Given the description of an element on the screen output the (x, y) to click on. 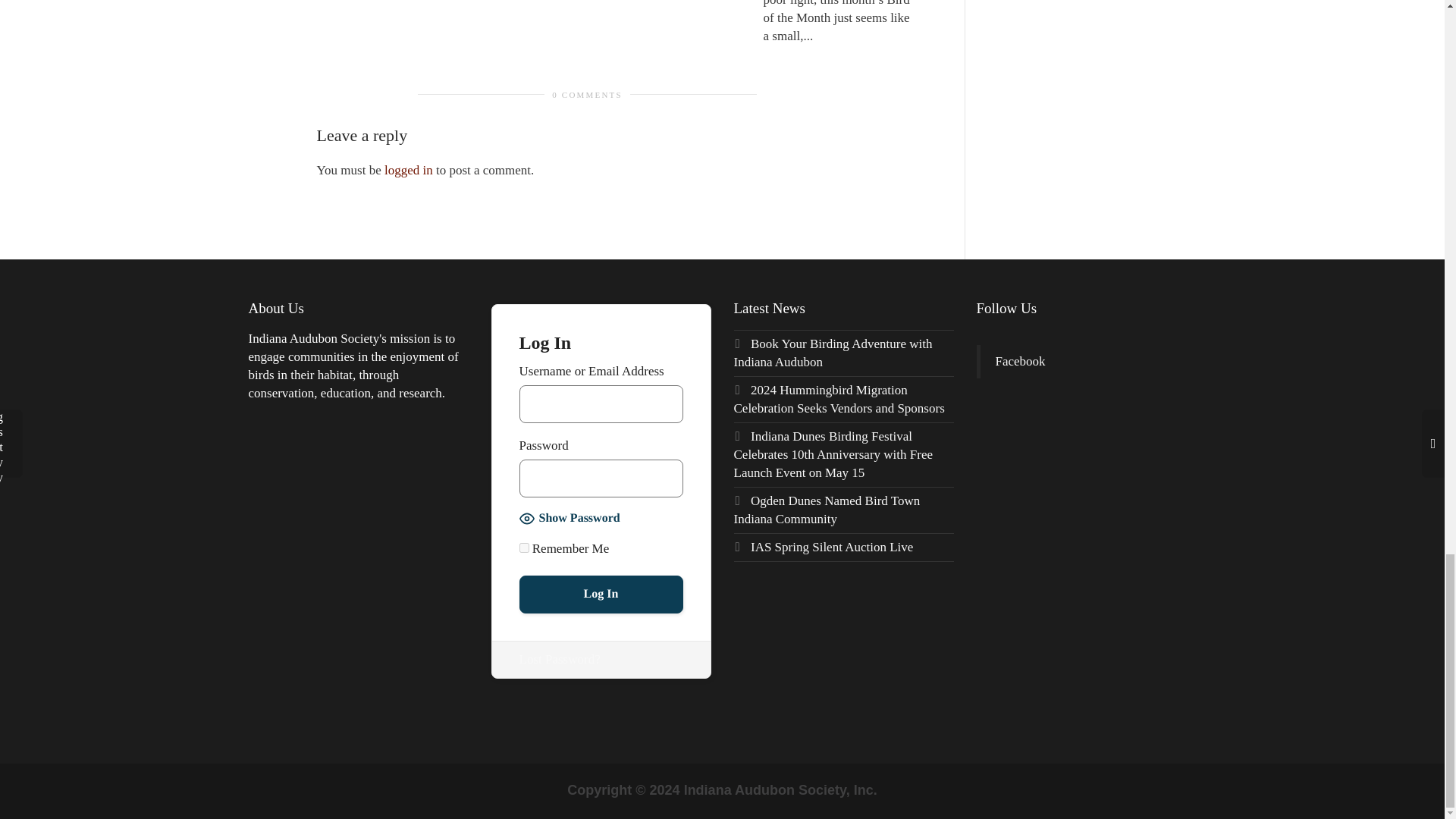
forever (523, 547)
Log In (600, 594)
